Given the description of an element on the screen output the (x, y) to click on. 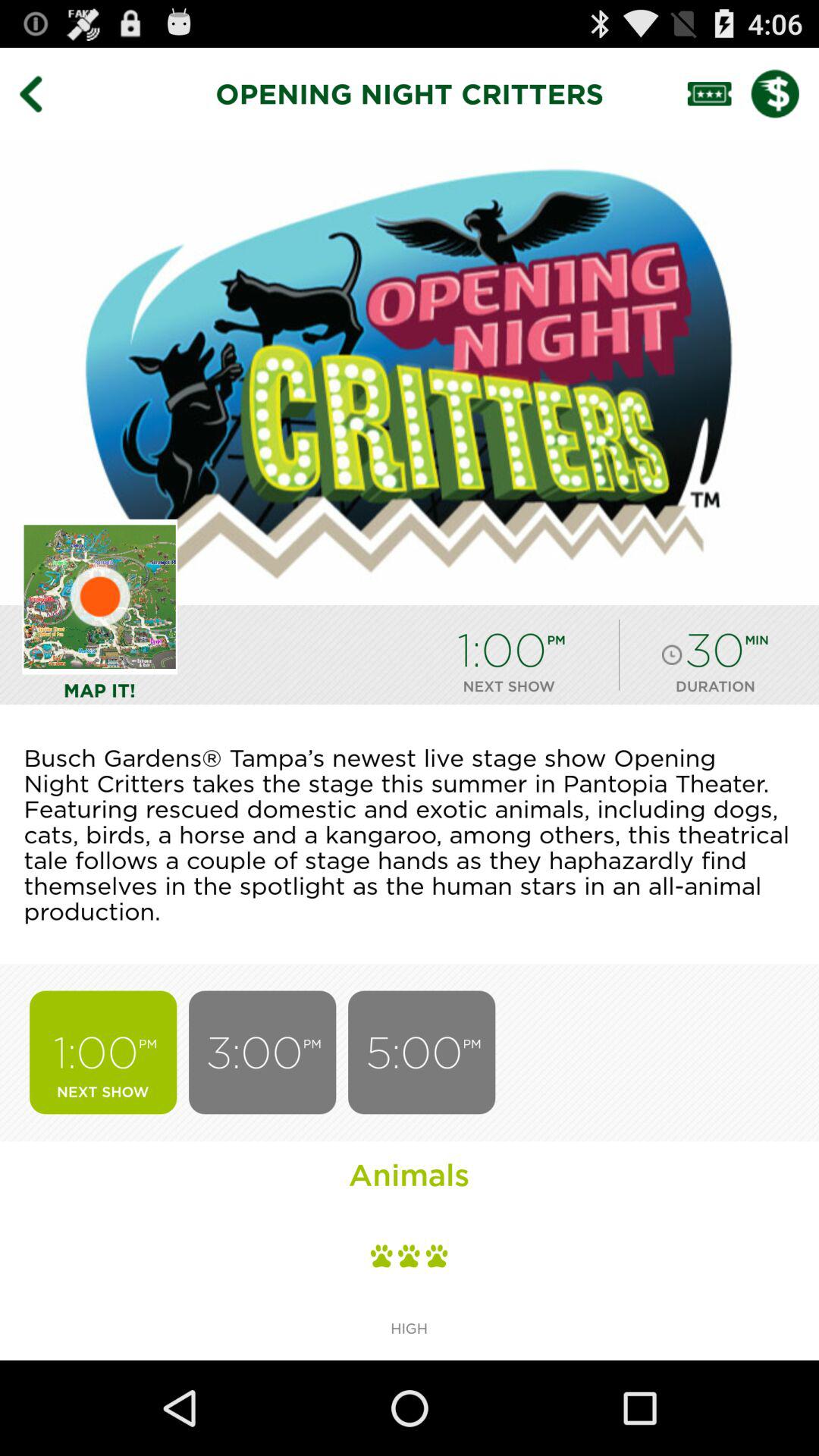
screenshot of map (99, 596)
